Given the description of an element on the screen output the (x, y) to click on. 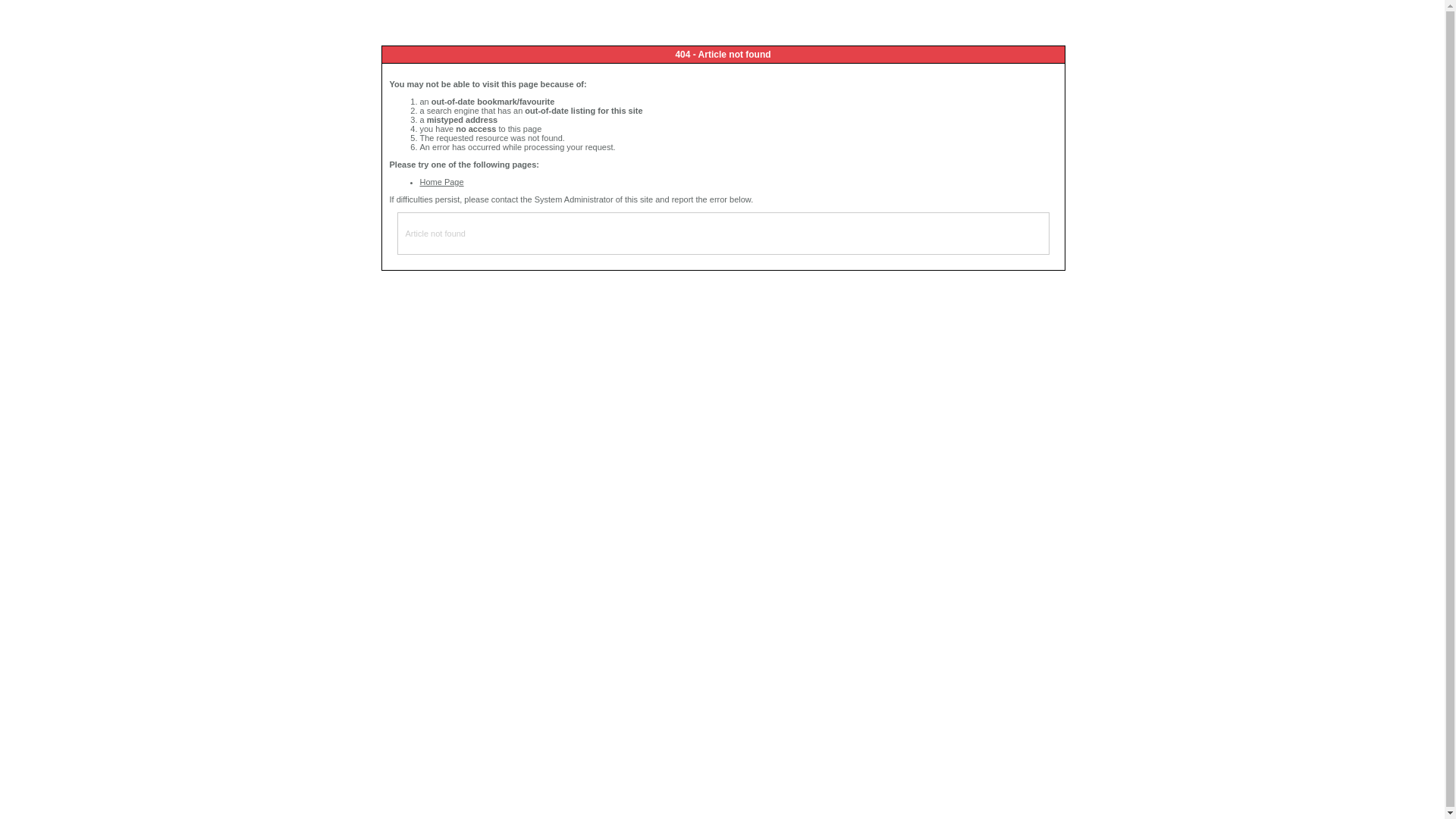
Home Page Element type: text (442, 181)
